Given the description of an element on the screen output the (x, y) to click on. 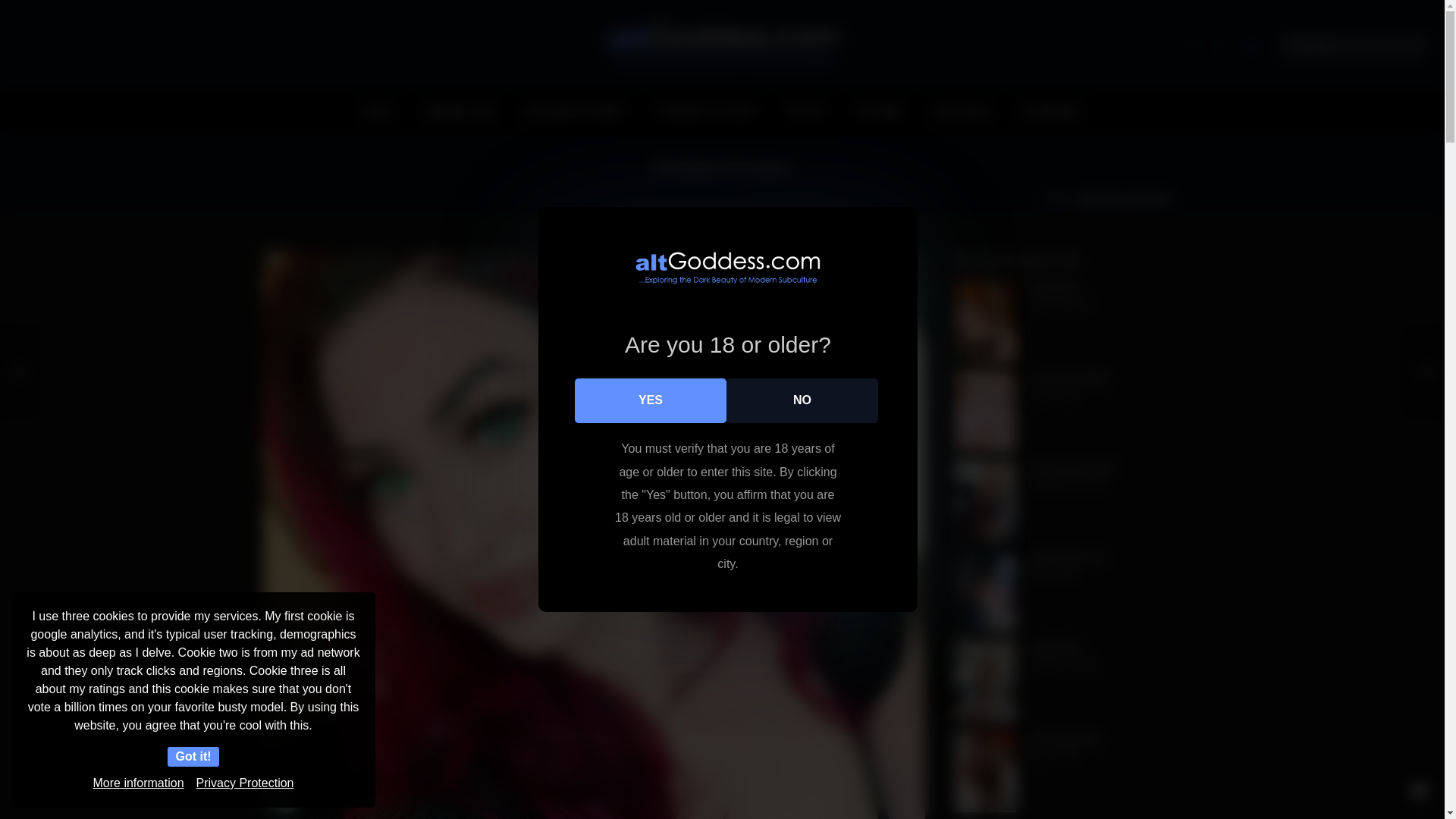
Alt Porn (805, 110)
alt Content Creators (575, 110)
alt Content Creators (575, 110)
More information (138, 782)
Alt Porn (805, 110)
alt Fetish (879, 110)
alt Archives (961, 110)
alt Babe Tube (459, 110)
Alt Babes on Social (706, 110)
alt Babe Tube (459, 110)
alt Galleries (1051, 110)
alt Galleries (1051, 110)
Privacy Protection (245, 782)
alt Fetish (879, 110)
Home (378, 110)
